Given the description of an element on the screen output the (x, y) to click on. 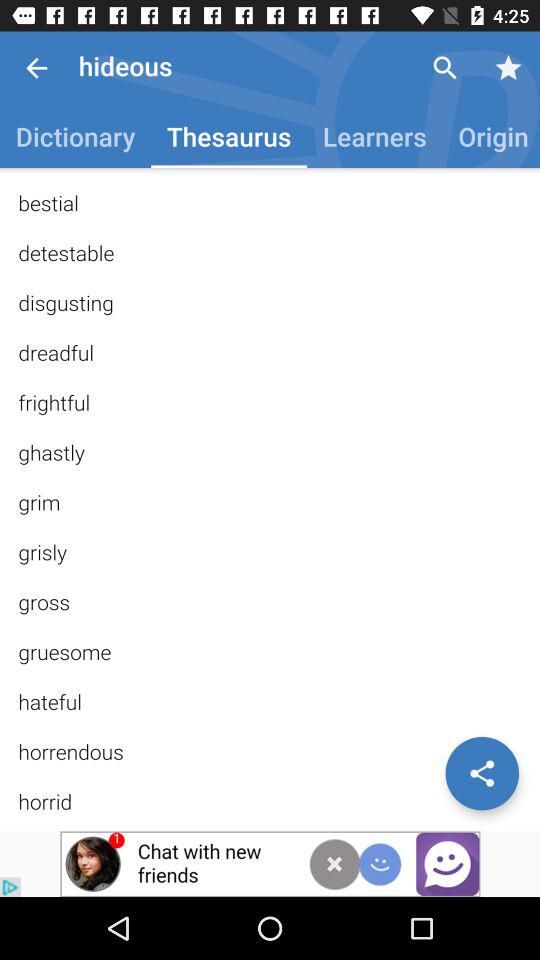
share the article (482, 773)
